Given the description of an element on the screen output the (x, y) to click on. 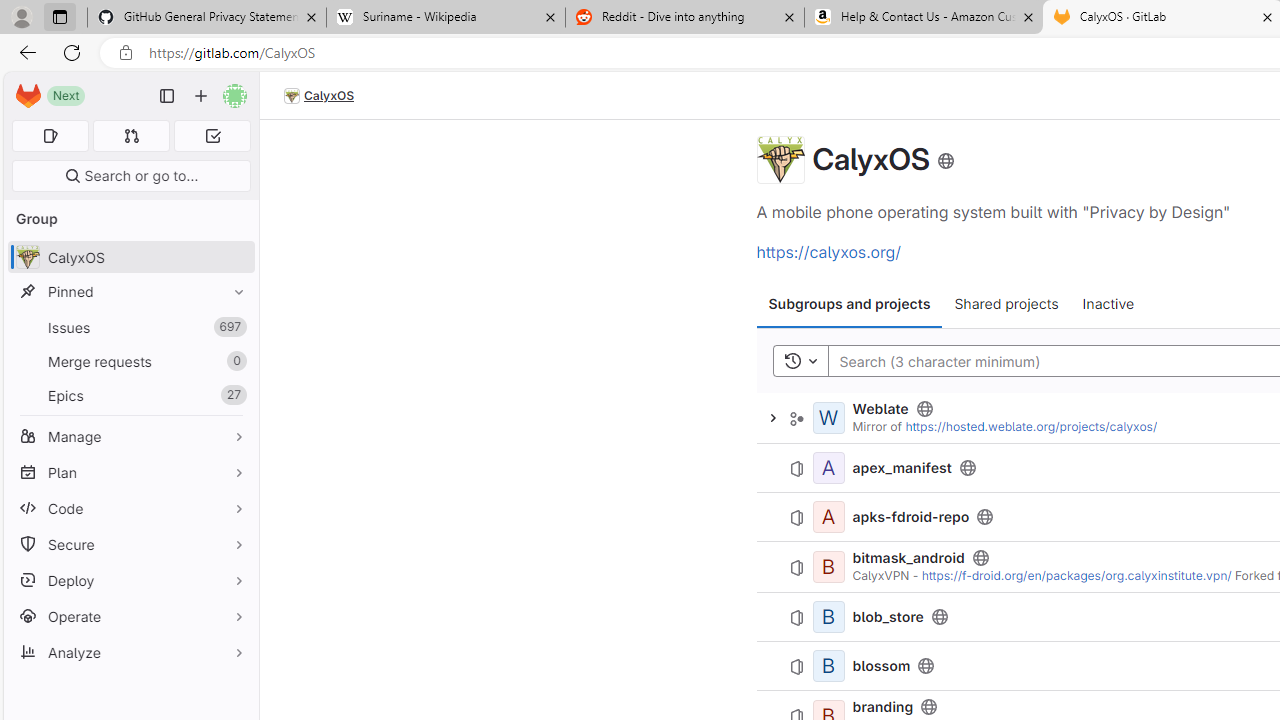
avatar CalyxOS (130, 257)
apex_manifest (902, 467)
Shared projects (1006, 304)
https://calyxos.org/ (828, 251)
Epics 27 (130, 394)
Deploy (130, 579)
blob_store (888, 616)
Suriname - Wikipedia (445, 17)
Merge requests0 (130, 361)
Secure (130, 543)
bitmask_android (908, 557)
Plan (130, 471)
